Given the description of an element on the screen output the (x, y) to click on. 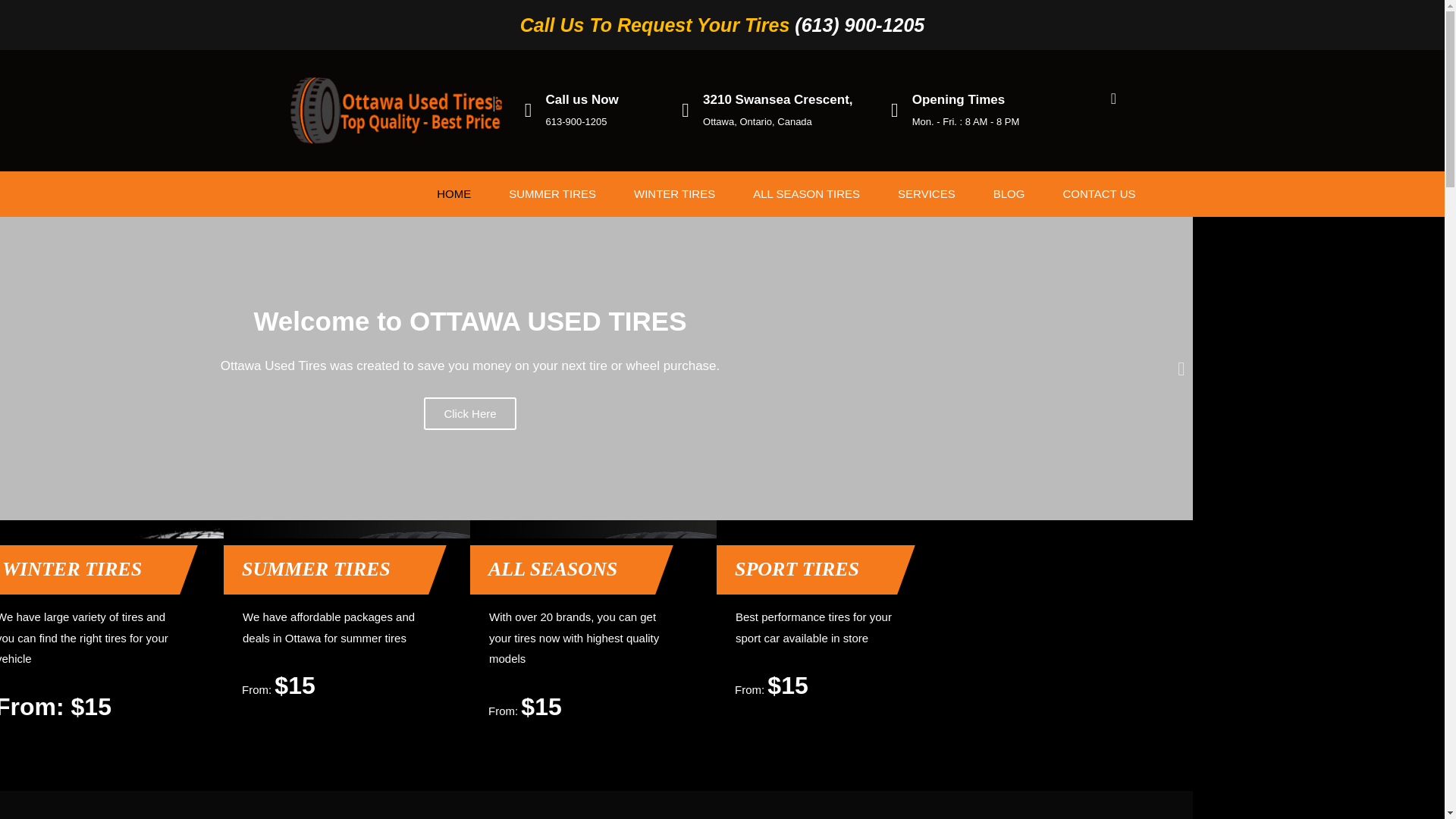
SERVICES (926, 194)
SUMMER TIRES (551, 194)
WINTER TIRES (673, 194)
ALL SEASON TIRES (806, 194)
CONTACT US (1098, 194)
HOME (453, 194)
BLOG (1008, 194)
